Given the description of an element on the screen output the (x, y) to click on. 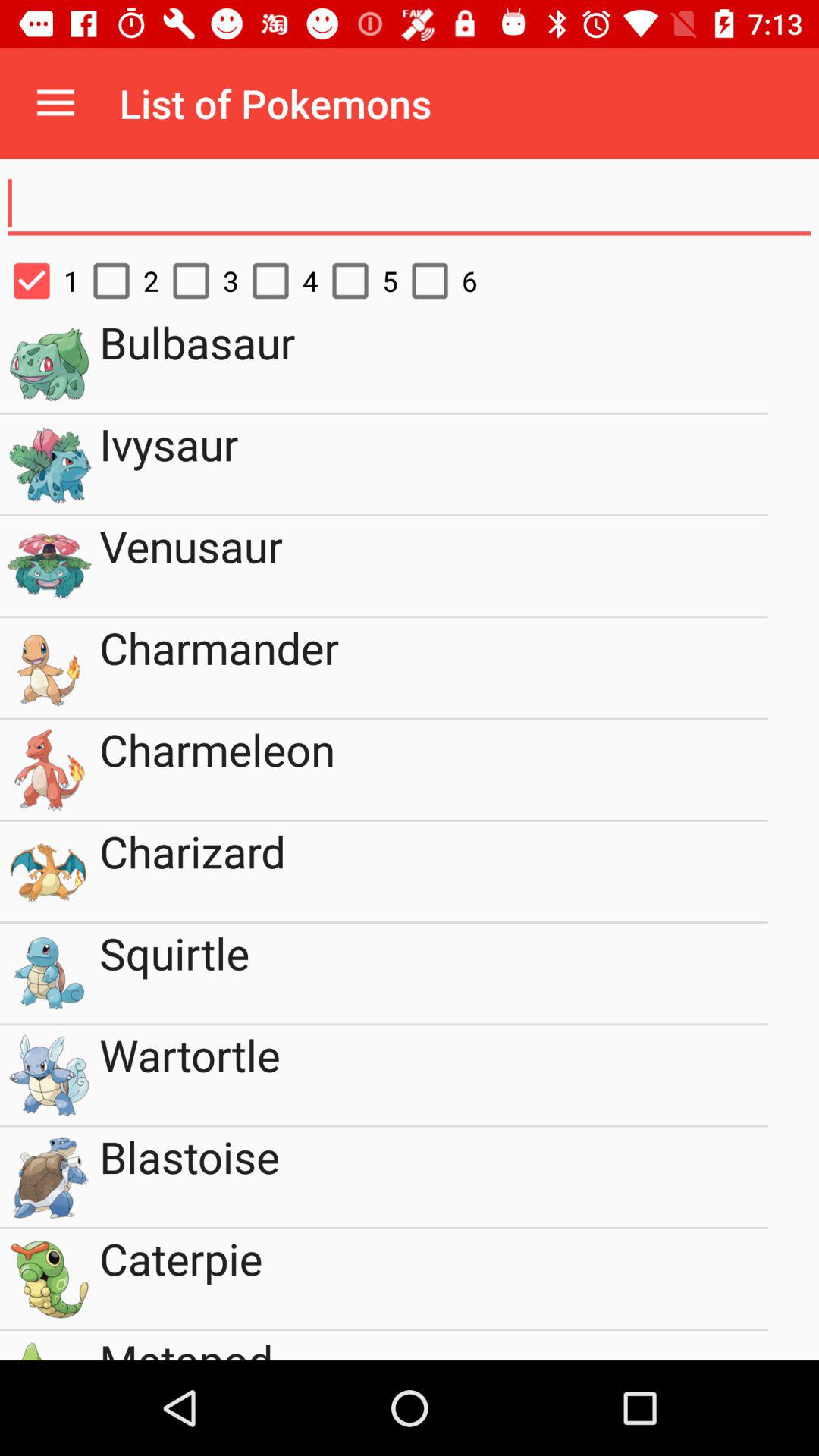
click the item above the bulbasaur item (278, 280)
